Given the description of an element on the screen output the (x, y) to click on. 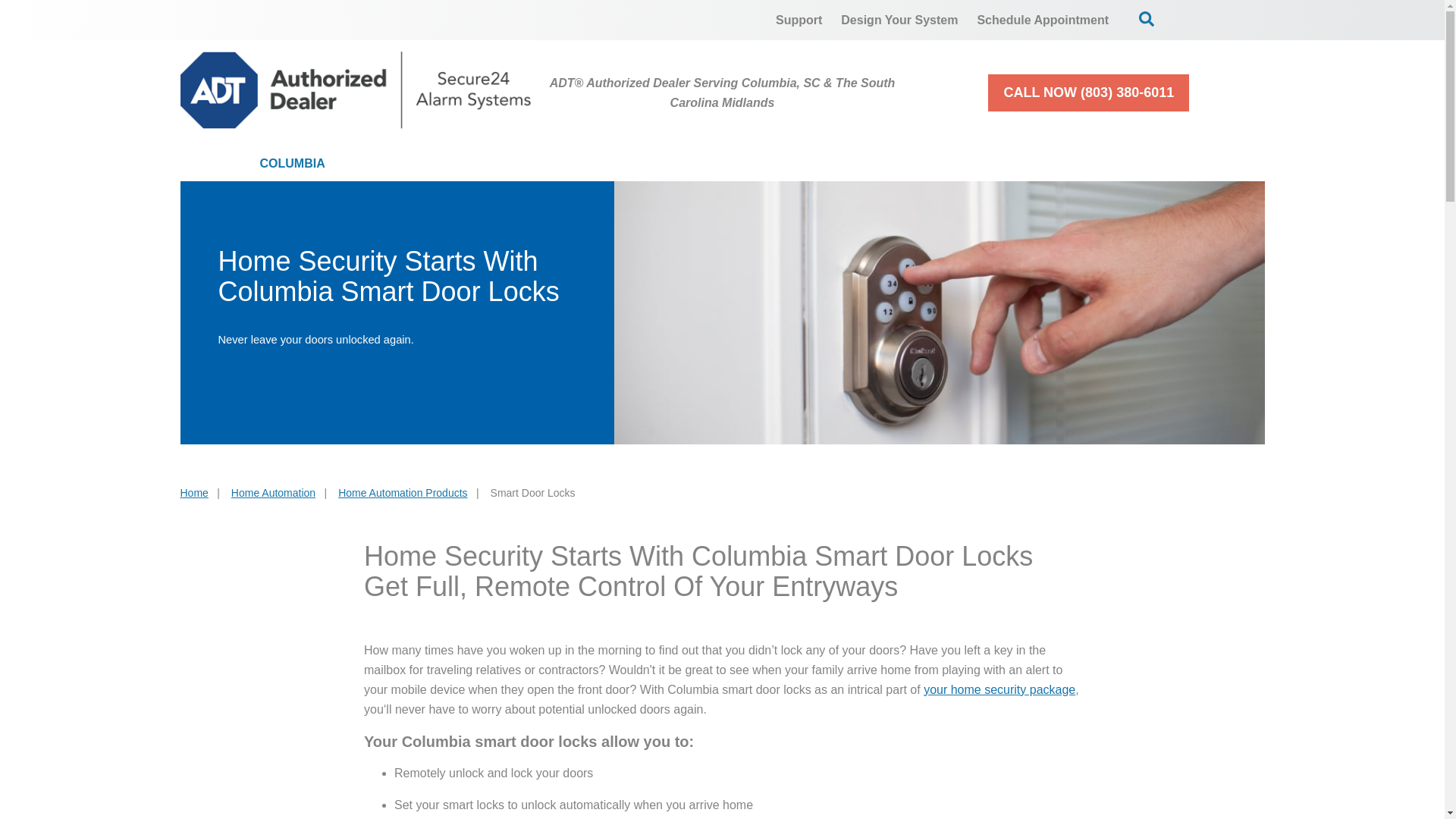
Schedule Appointment (1042, 20)
Open Search (1146, 18)
Secure24 Alarm Systems Home (355, 89)
Support (798, 20)
Home Security (441, 163)
Cameras (591, 163)
Home Automation (751, 163)
Design Your System (898, 20)
